Given the description of an element on the screen output the (x, y) to click on. 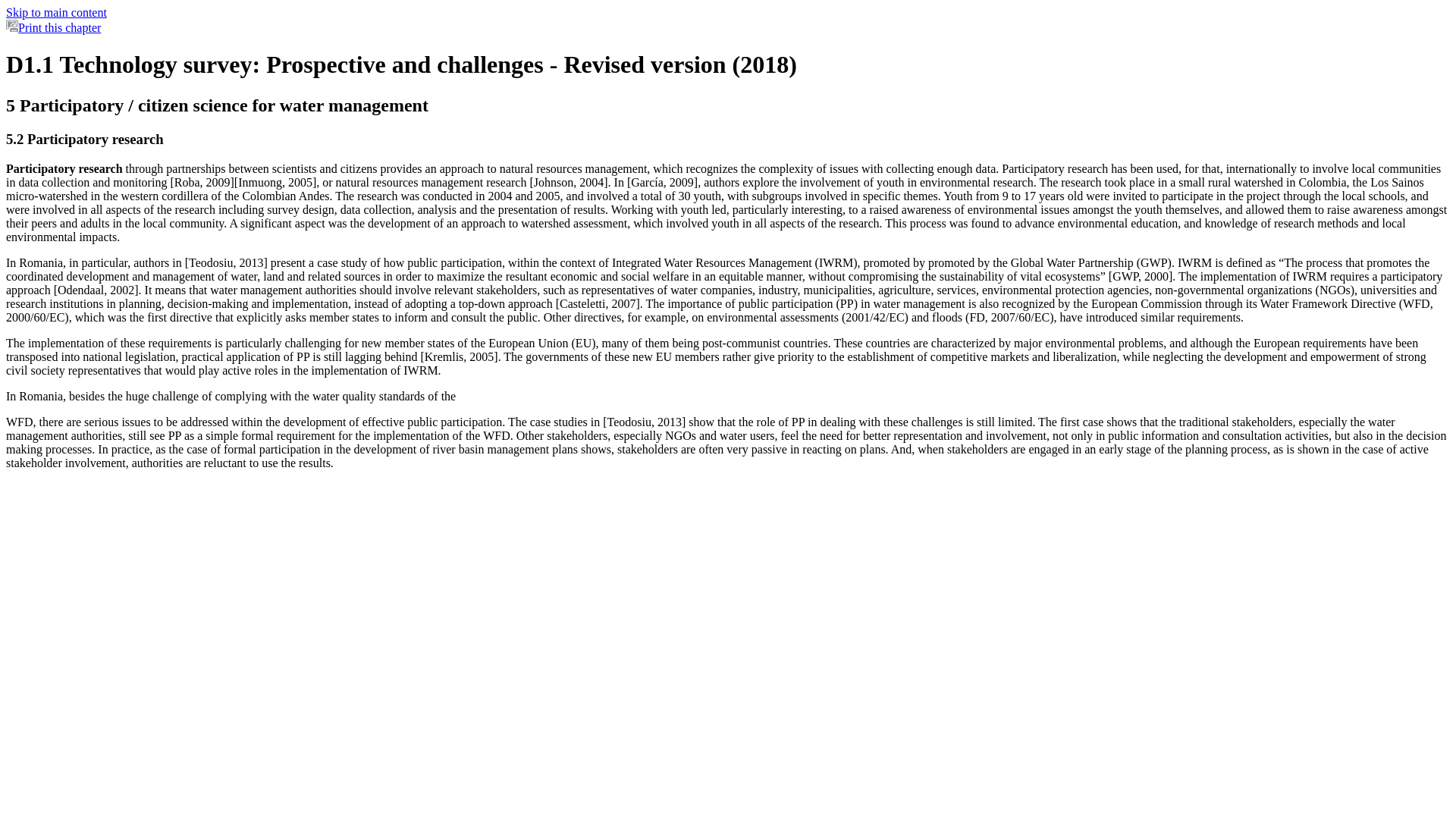
Print this chapter (11, 25)
Skip to main content (55, 11)
Print this chapter (52, 27)
